Given the description of an element on the screen output the (x, y) to click on. 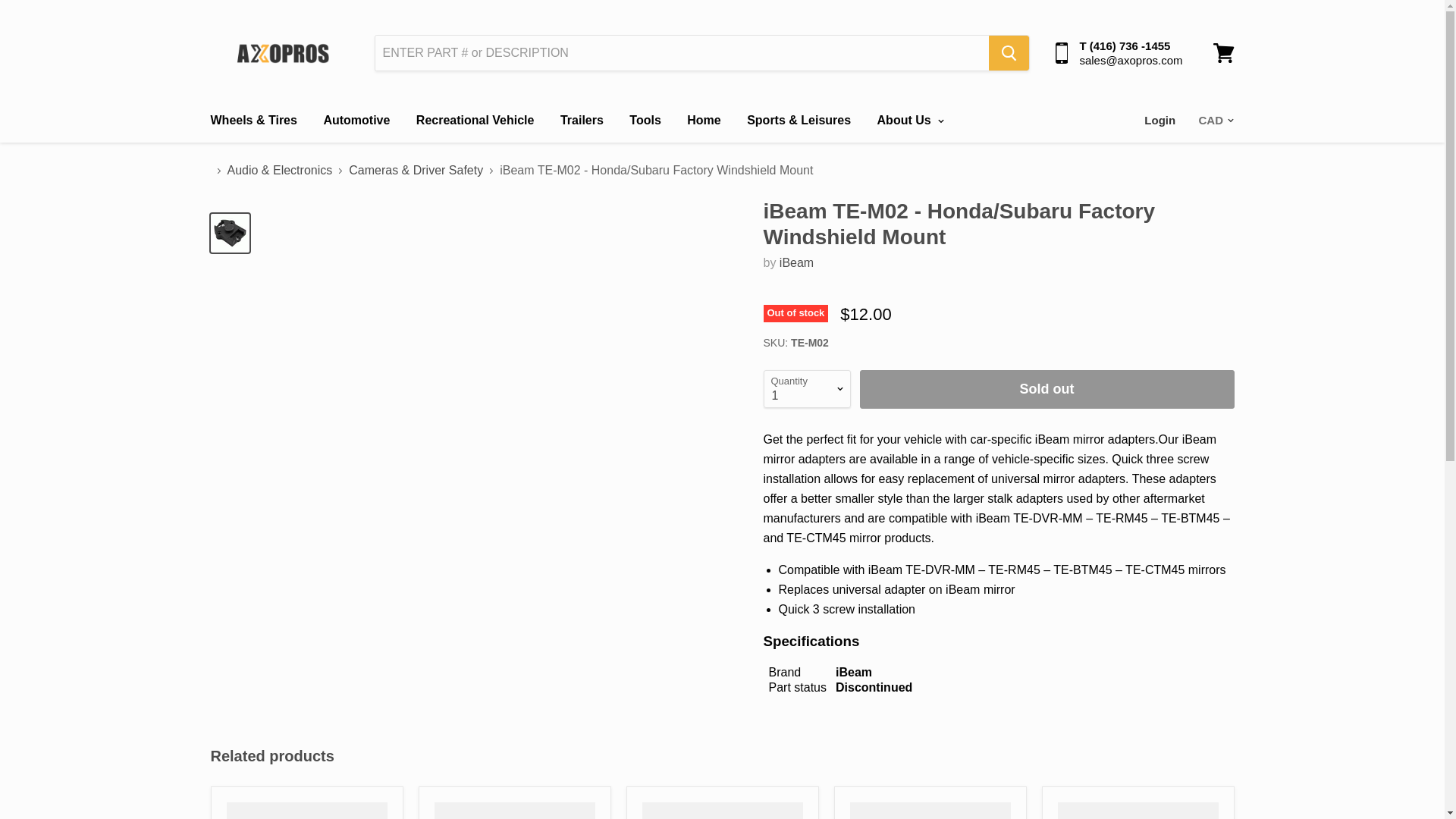
Automotive (356, 120)
About Us (909, 120)
Login (1160, 120)
View cart (1223, 53)
Recreational Vehicle (475, 120)
iBeam (795, 262)
Home (703, 120)
Trailers (581, 120)
Tools (644, 120)
